Given the description of an element on the screen output the (x, y) to click on. 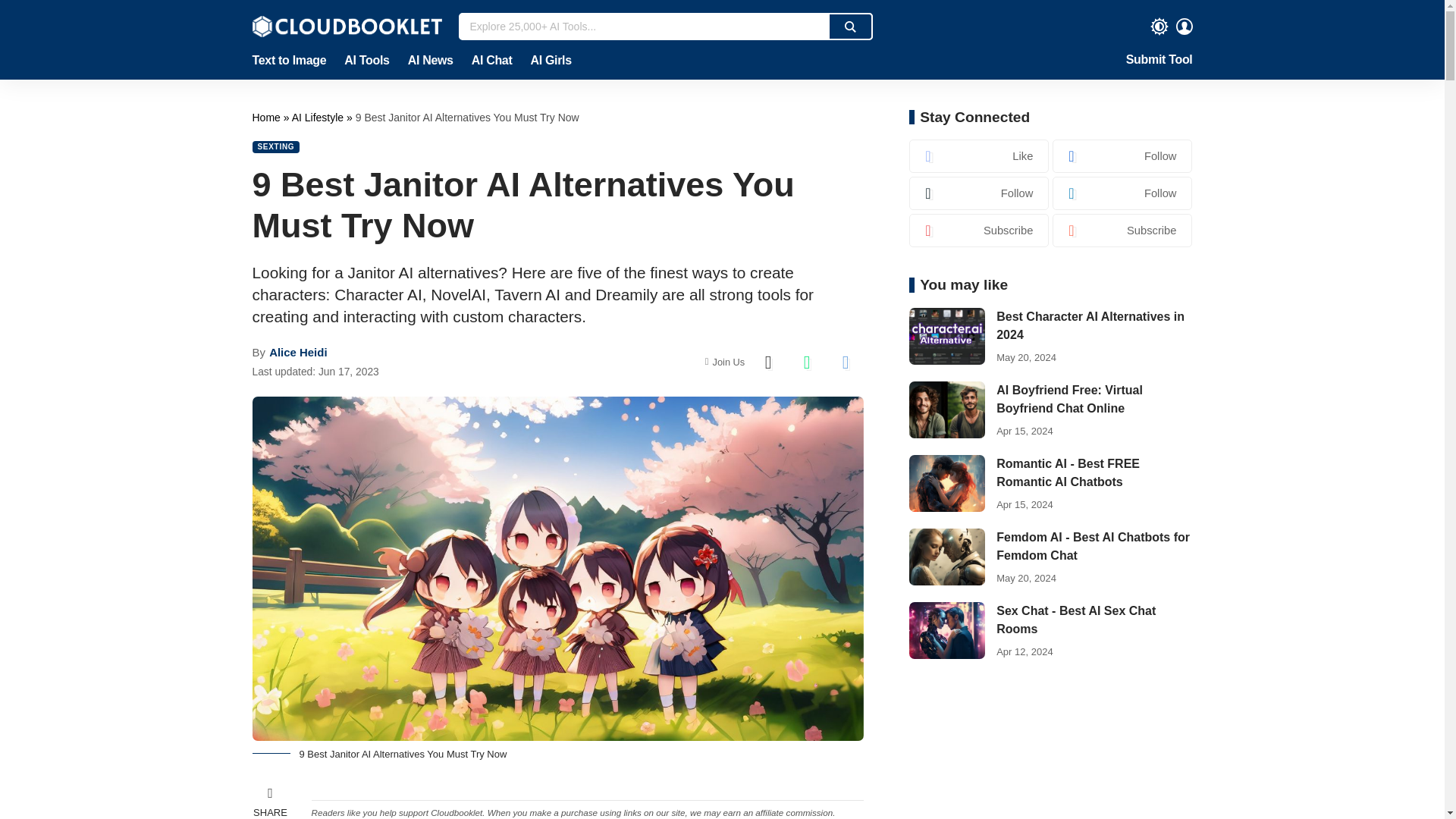
AI Chat (492, 60)
SEXTING (275, 146)
Alice Heidi (297, 352)
AI Boyfriend Free: Virtual Boyfriend Chat Online (946, 409)
AI News (430, 60)
Romantic AI - Best FREE Romantic AI Chatbots (946, 483)
Femdom AI - Best AI Chatbots for Femdom Chat (946, 556)
AI Tools (365, 60)
AI Girls (545, 60)
AI Lifestyle (319, 117)
Home (266, 117)
Cloudbooklet AI (266, 117)
Text to Image (292, 60)
Cloudbooklet AI (346, 25)
